Given the description of an element on the screen output the (x, y) to click on. 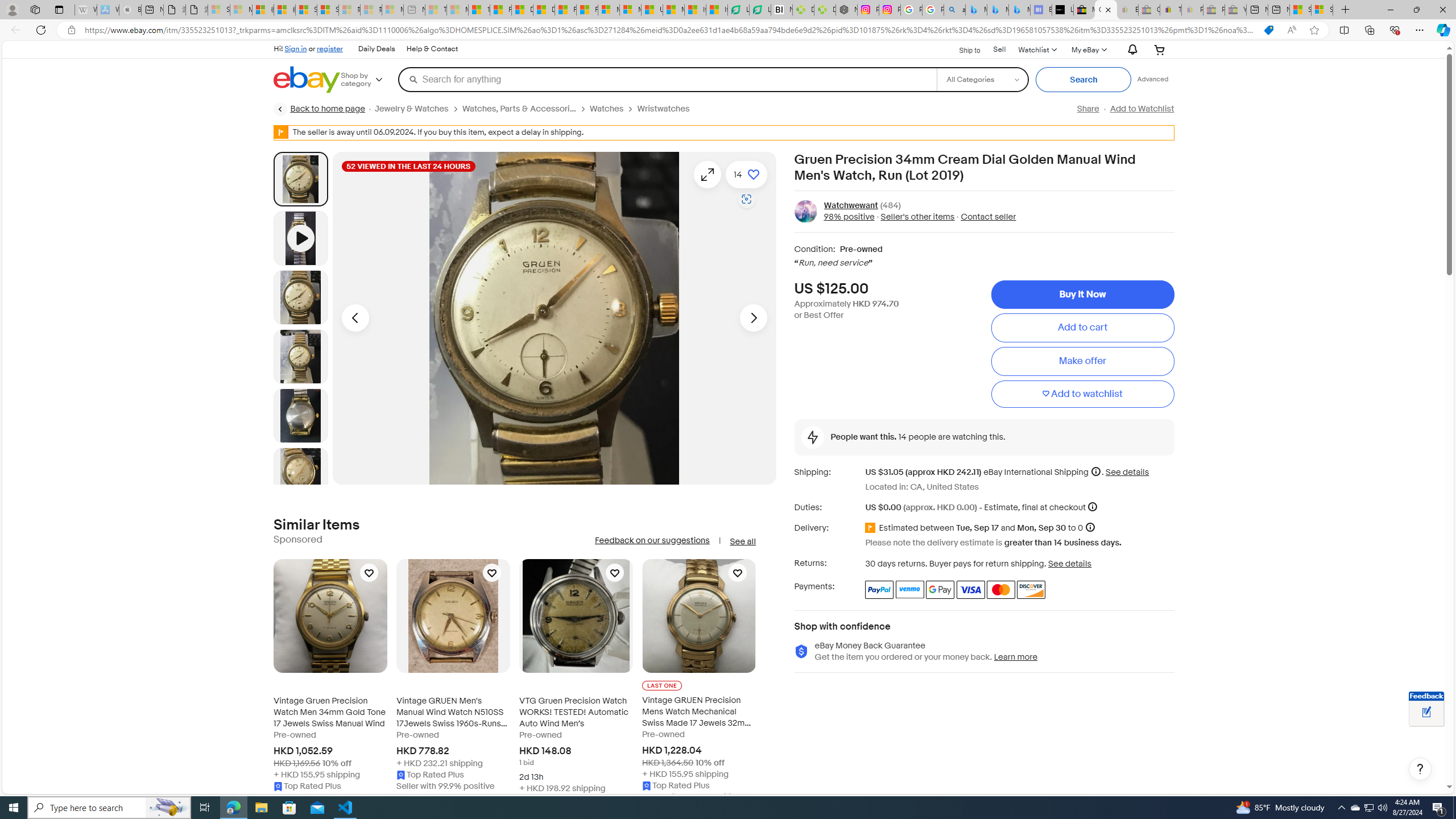
Buy iPad - Apple - Sleeping (130, 9)
AutomationID: gh-eb-Alerts (1131, 49)
Class: ux-action (804, 210)
Help & Contact (431, 49)
Next image - Item images thumbnails (753, 318)
See details - for more information about returns (1070, 563)
LendingTree - Compare Lenders (760, 9)
Video 1 of 1 (300, 237)
